Given the description of an element on the screen output the (x, y) to click on. 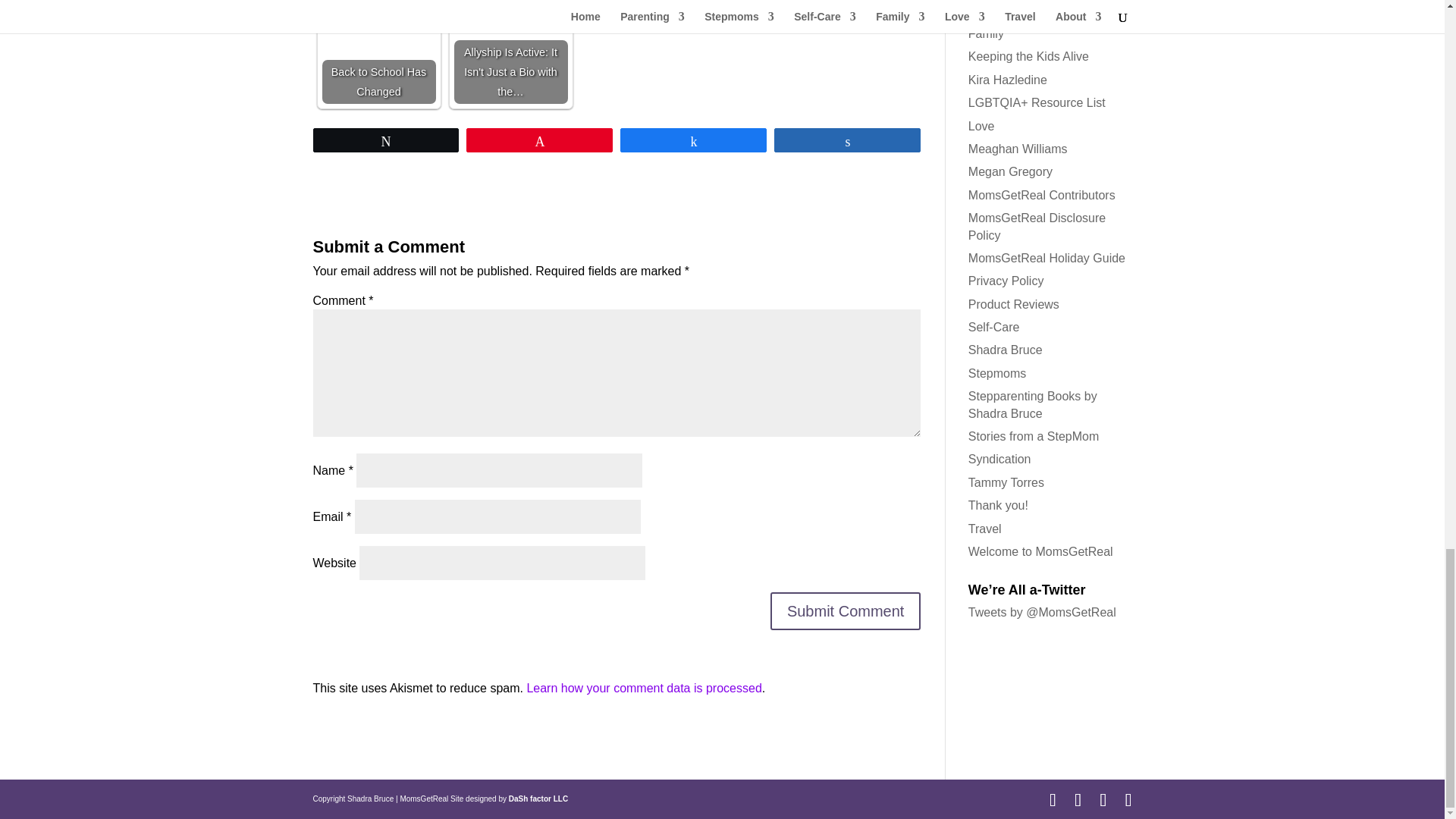
Submit Comment (845, 610)
Back to School Has Changed (378, 14)
